Given the description of an element on the screen output the (x, y) to click on. 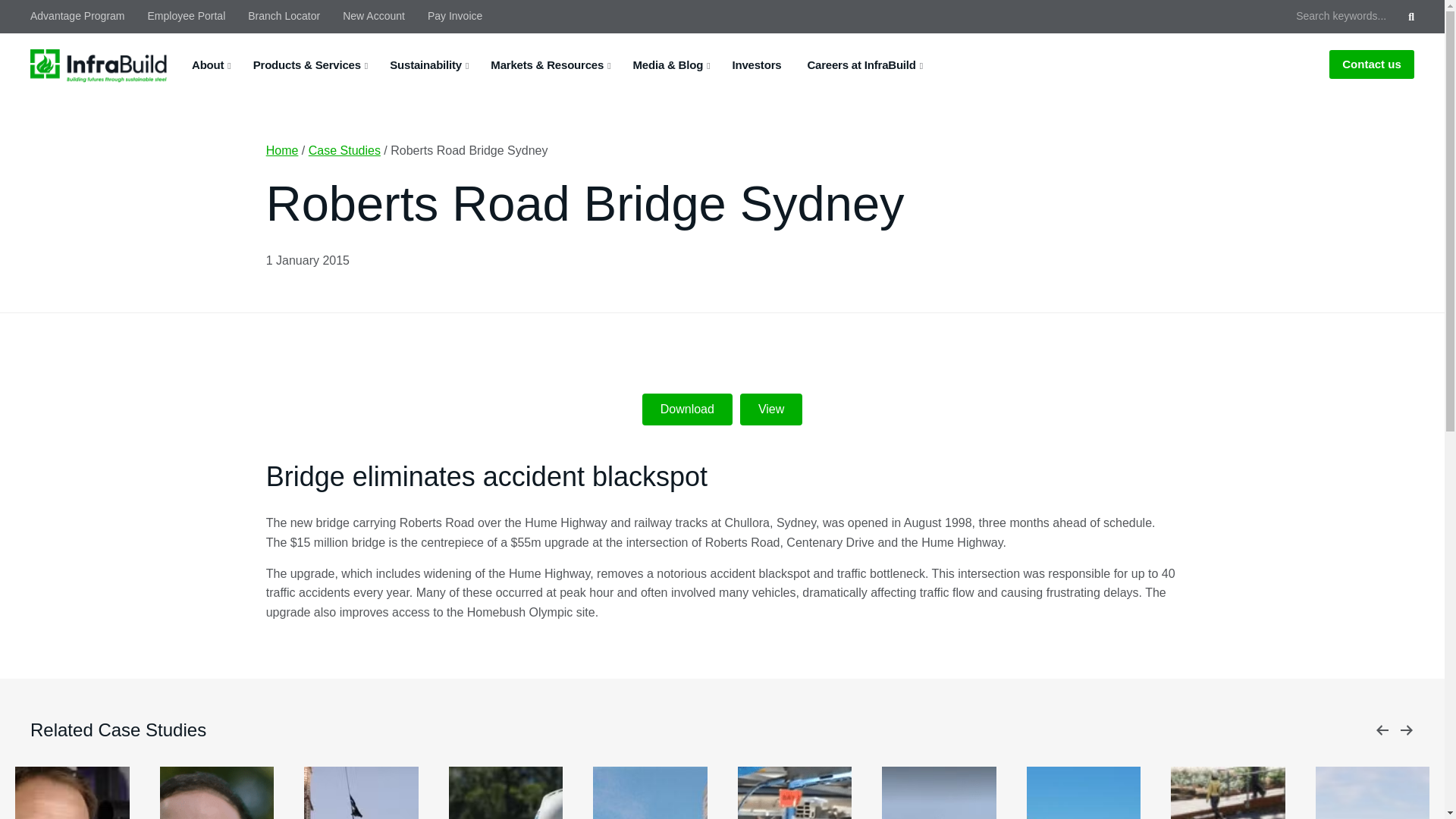
Pay Invoice (454, 15)
About (207, 63)
Advantage Program (83, 15)
New Account (373, 15)
Branch Locator (283, 15)
Employee Portal (186, 15)
